Given the description of an element on the screen output the (x, y) to click on. 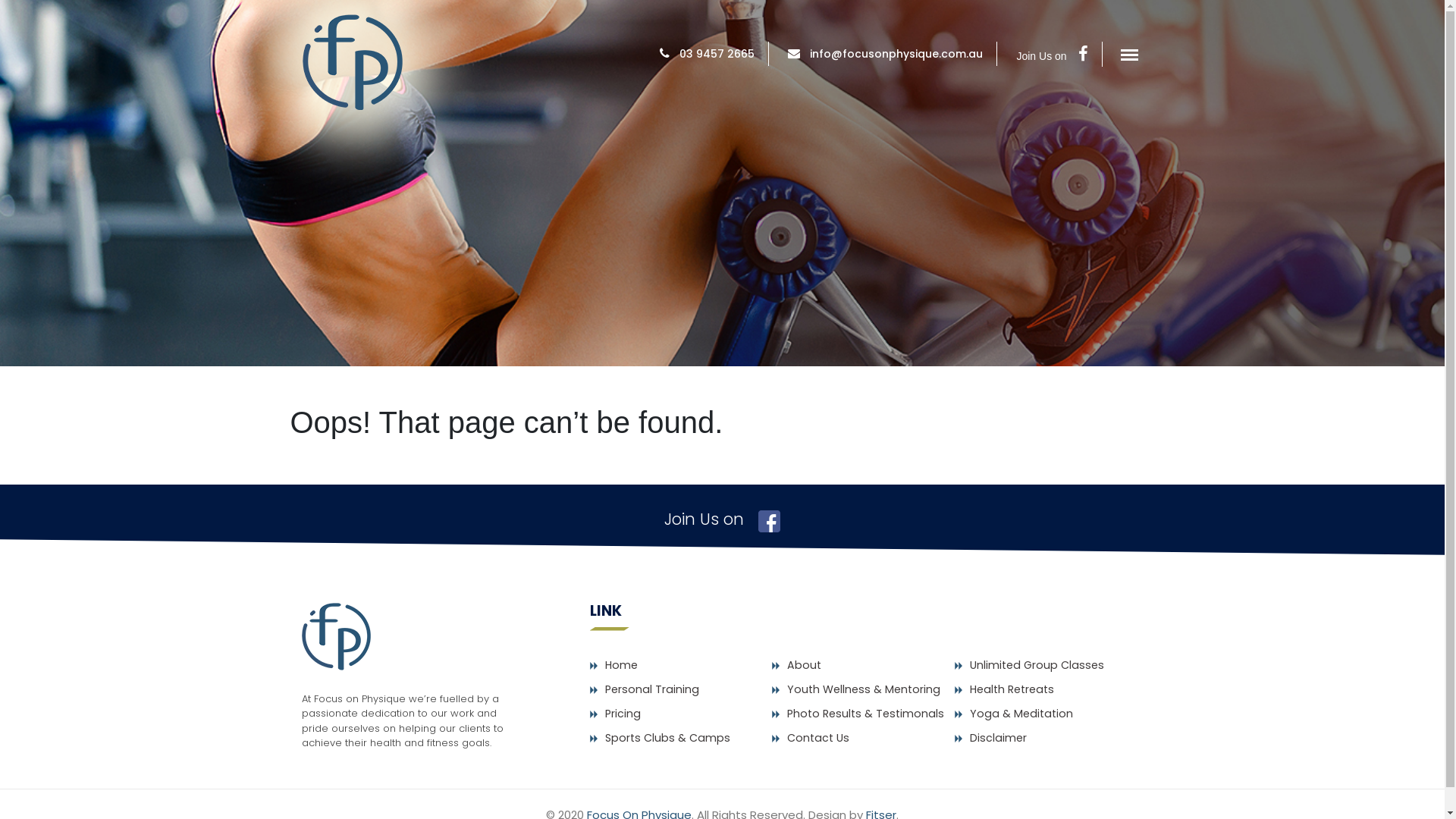
About Element type: text (804, 664)
info@focusonphysique.com.au Element type: text (895, 53)
Disclaimer Element type: text (997, 737)
Yoga & Meditation Element type: text (1021, 713)
Unlimited Group Classes Element type: text (1036, 664)
Home Element type: text (621, 664)
Pricing Element type: text (622, 713)
Youth Wellness & Mentoring Element type: text (863, 688)
Personal Training Element type: text (652, 688)
Contact Us Element type: text (818, 737)
Photo Results & Testimonals Element type: text (865, 713)
Health Retreats Element type: text (1011, 688)
03 9457 2665 Element type: text (716, 53)
Sports Clubs & Camps Element type: text (667, 737)
